Given the description of an element on the screen output the (x, y) to click on. 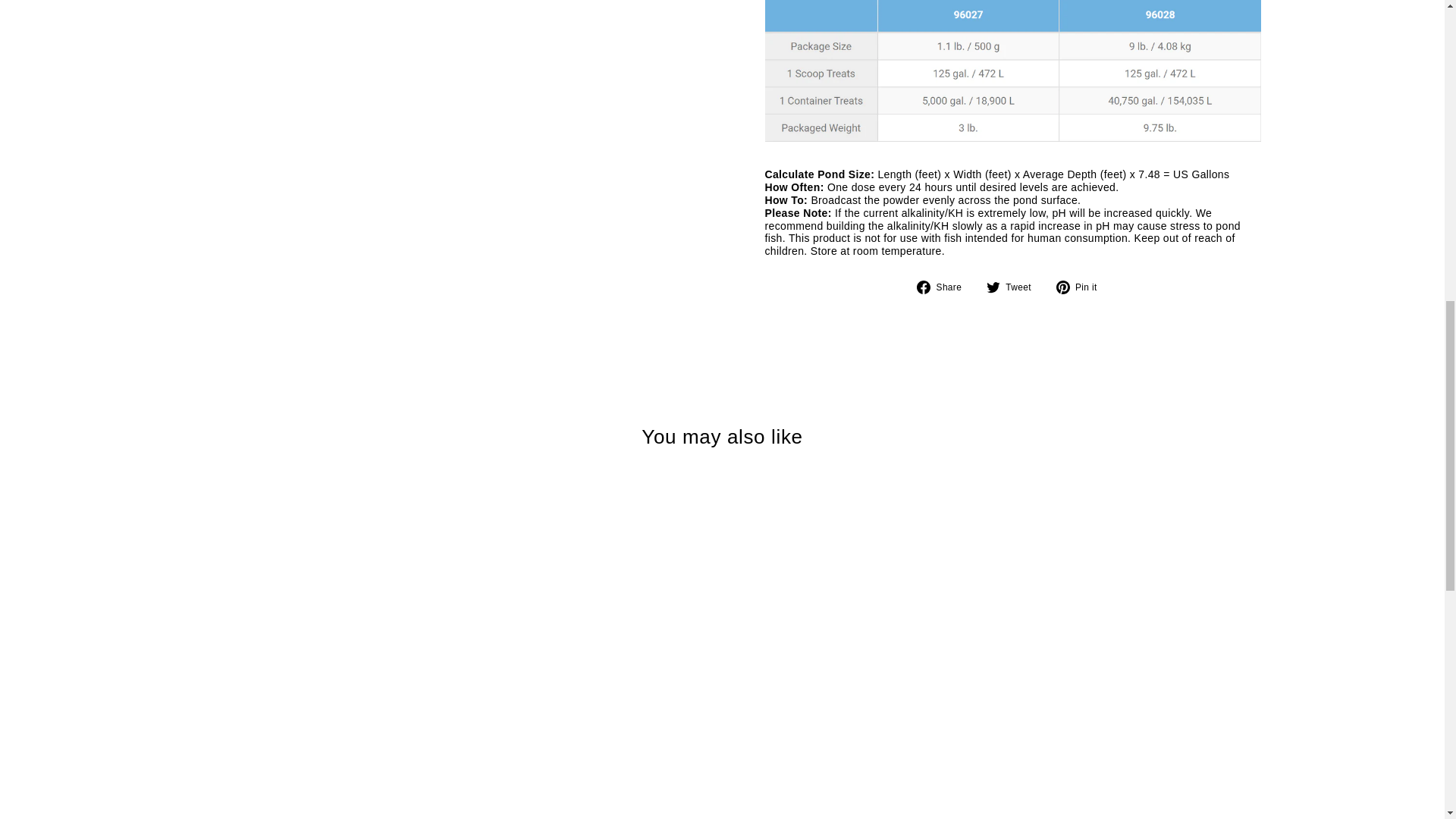
Share on Facebook (944, 287)
Pin on Pinterest (1082, 287)
Tweet on Twitter (1014, 287)
